Given the description of an element on the screen output the (x, y) to click on. 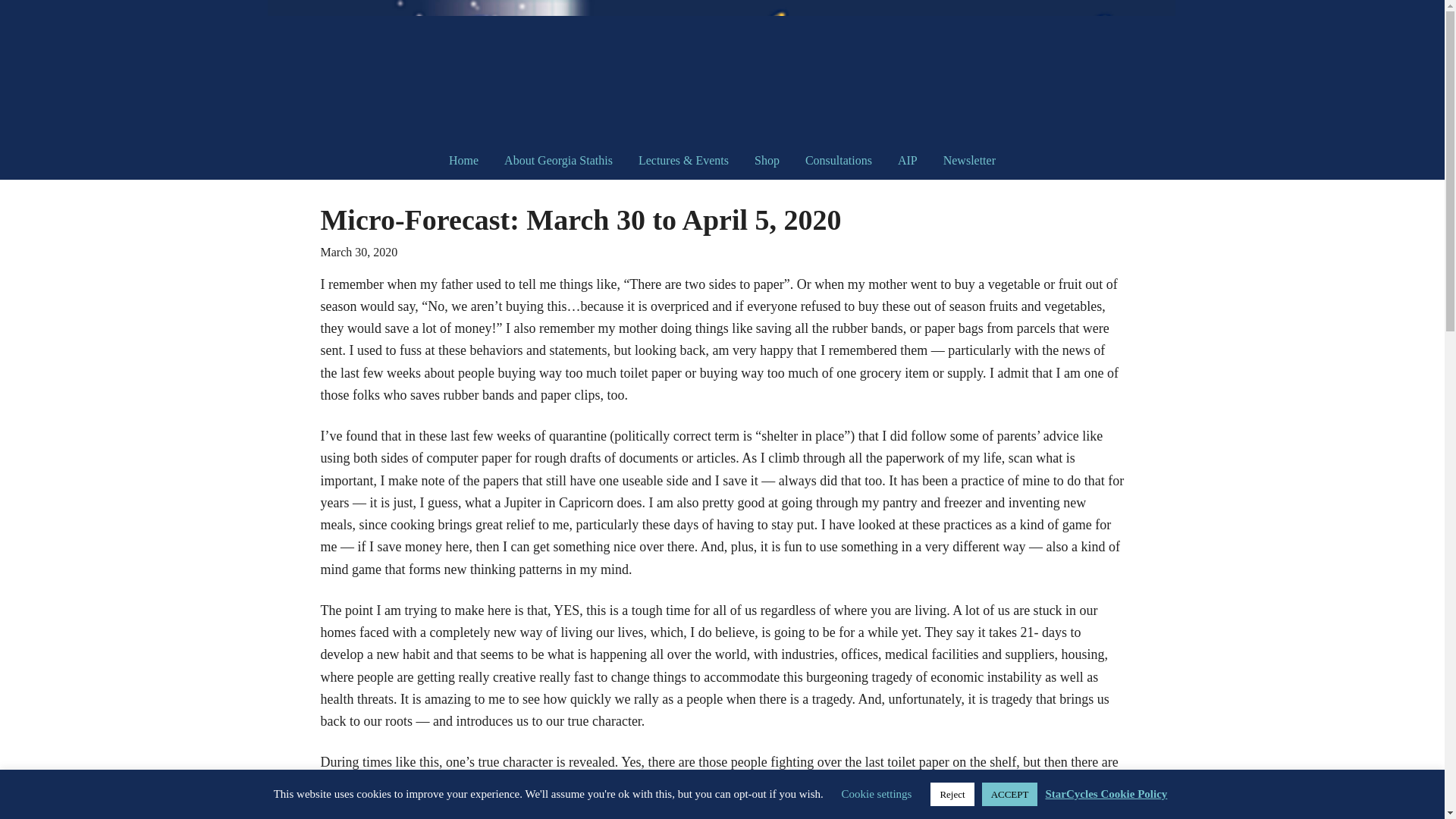
Reject (952, 793)
StarCycles Cookie Policy (1106, 793)
Shop (766, 160)
ACCEPT (1009, 793)
Newsletter (969, 160)
StarCycles with Georgia Stathis (721, 70)
Home (463, 160)
Consultations (838, 160)
AIP (907, 160)
About Georgia Stathis (558, 160)
